Given the description of an element on the screen output the (x, y) to click on. 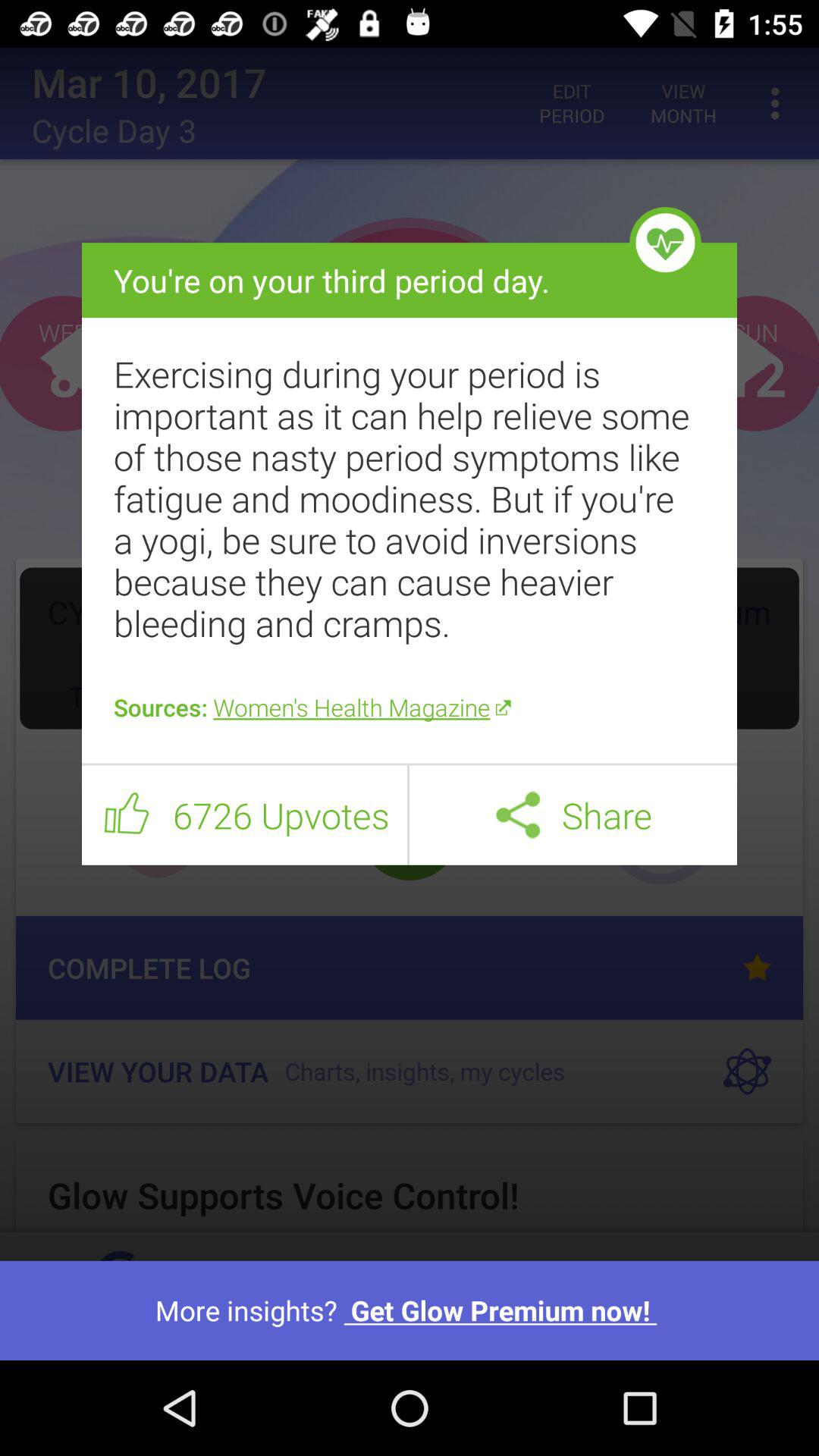
choose icon next to share item (518, 814)
